Given the description of an element on the screen output the (x, y) to click on. 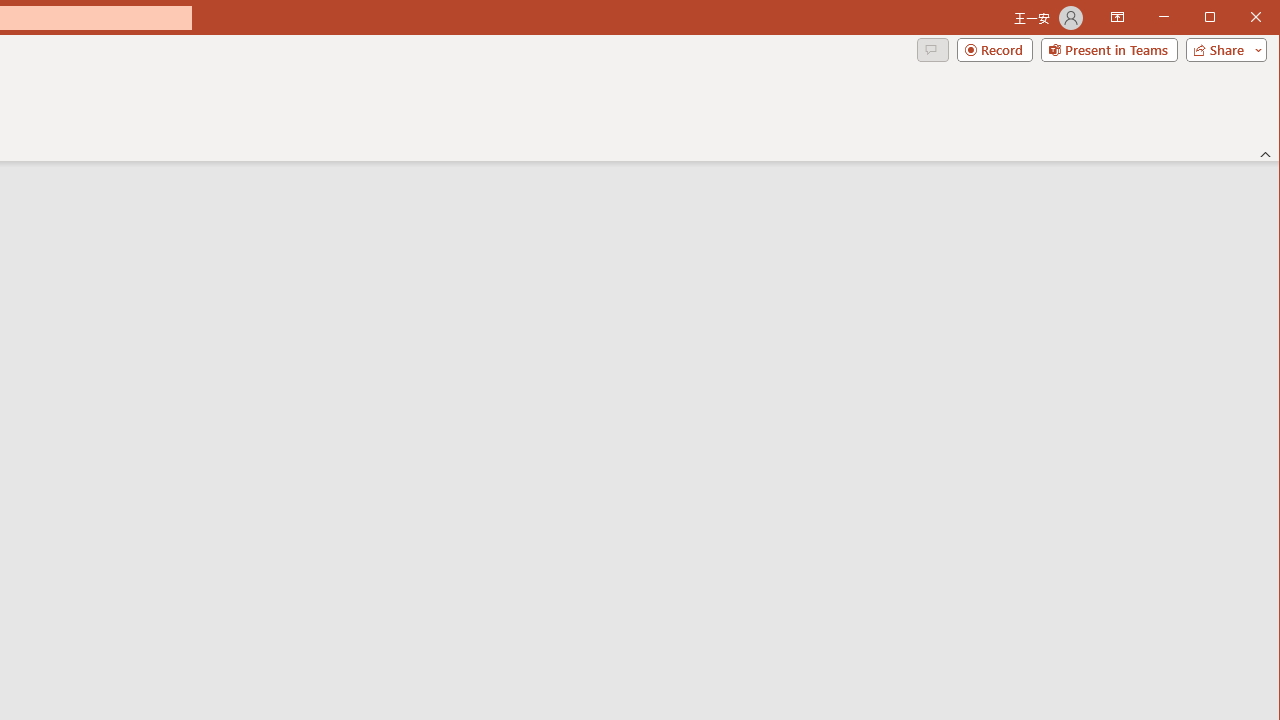
Maximize (1238, 18)
